Given the description of an element on the screen output the (x, y) to click on. 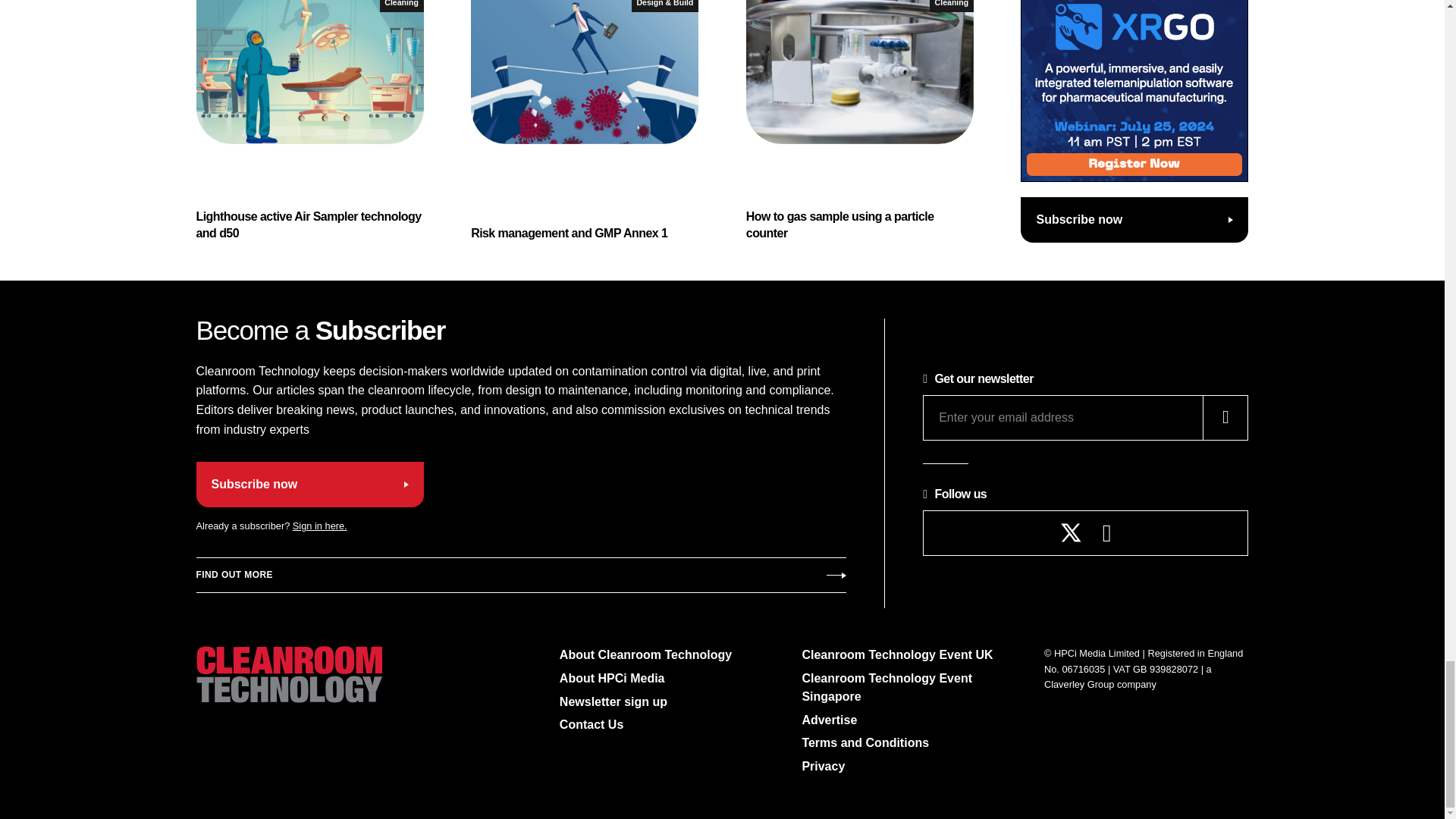
Subscribe (520, 575)
Follow Cleanroom Technology on X (1070, 532)
